Given the description of an element on the screen output the (x, y) to click on. 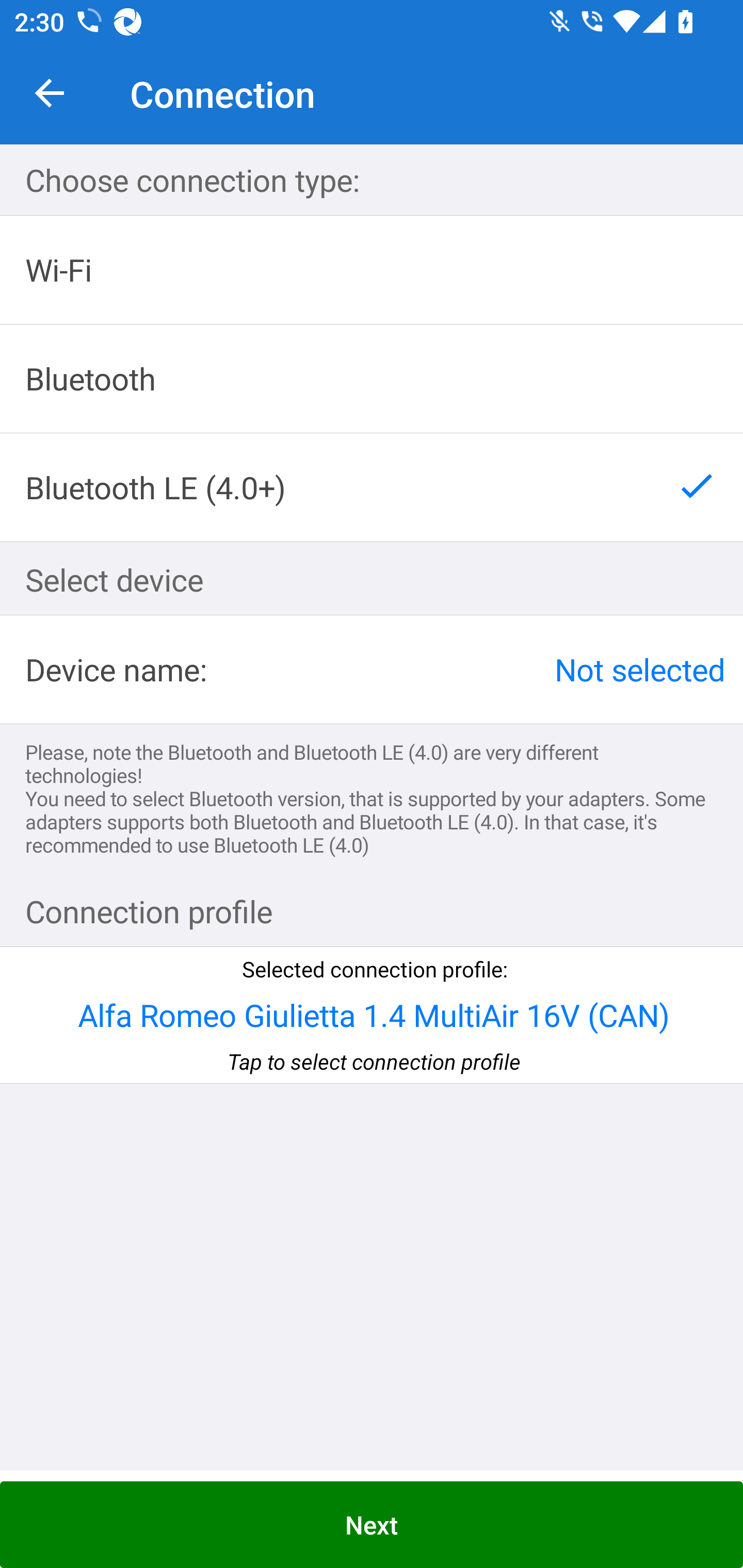
Wi-Fi (371, 270)
Bluetooth (371, 378)
Bluetooth LE (4.0+) (371, 486)
Device name: Not selected (371, 669)
Next (371, 1524)
